Given the description of an element on the screen output the (x, y) to click on. 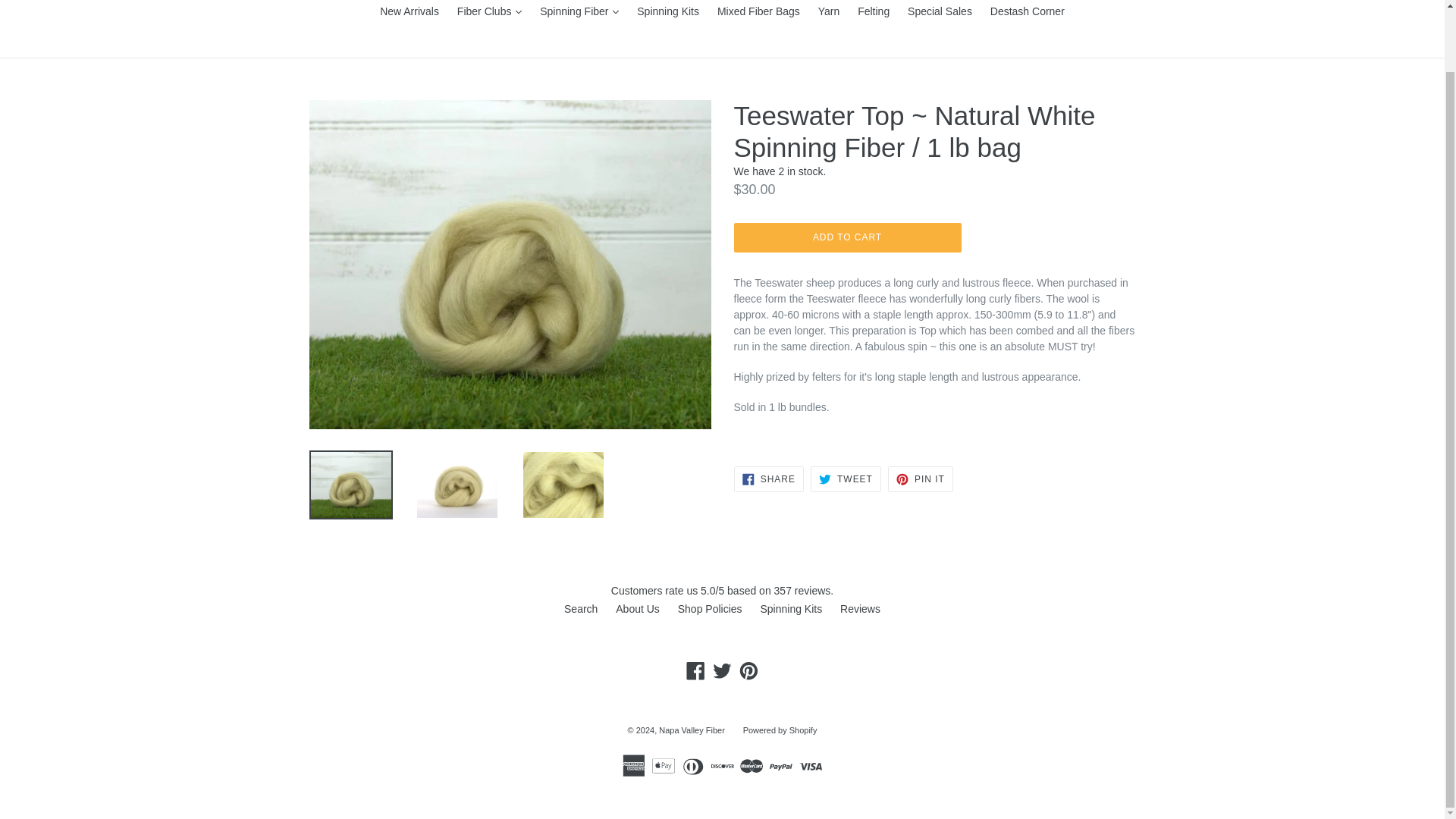
Napa Valley Fiber on Facebook (695, 670)
Tweet on Twitter (845, 479)
Napa Valley Fiber on Twitter (721, 670)
Napa Valley Fiber on Pinterest (748, 670)
Pin on Pinterest (920, 479)
Share on Facebook (768, 479)
New Arrivals (409, 13)
